Given the description of an element on the screen output the (x, y) to click on. 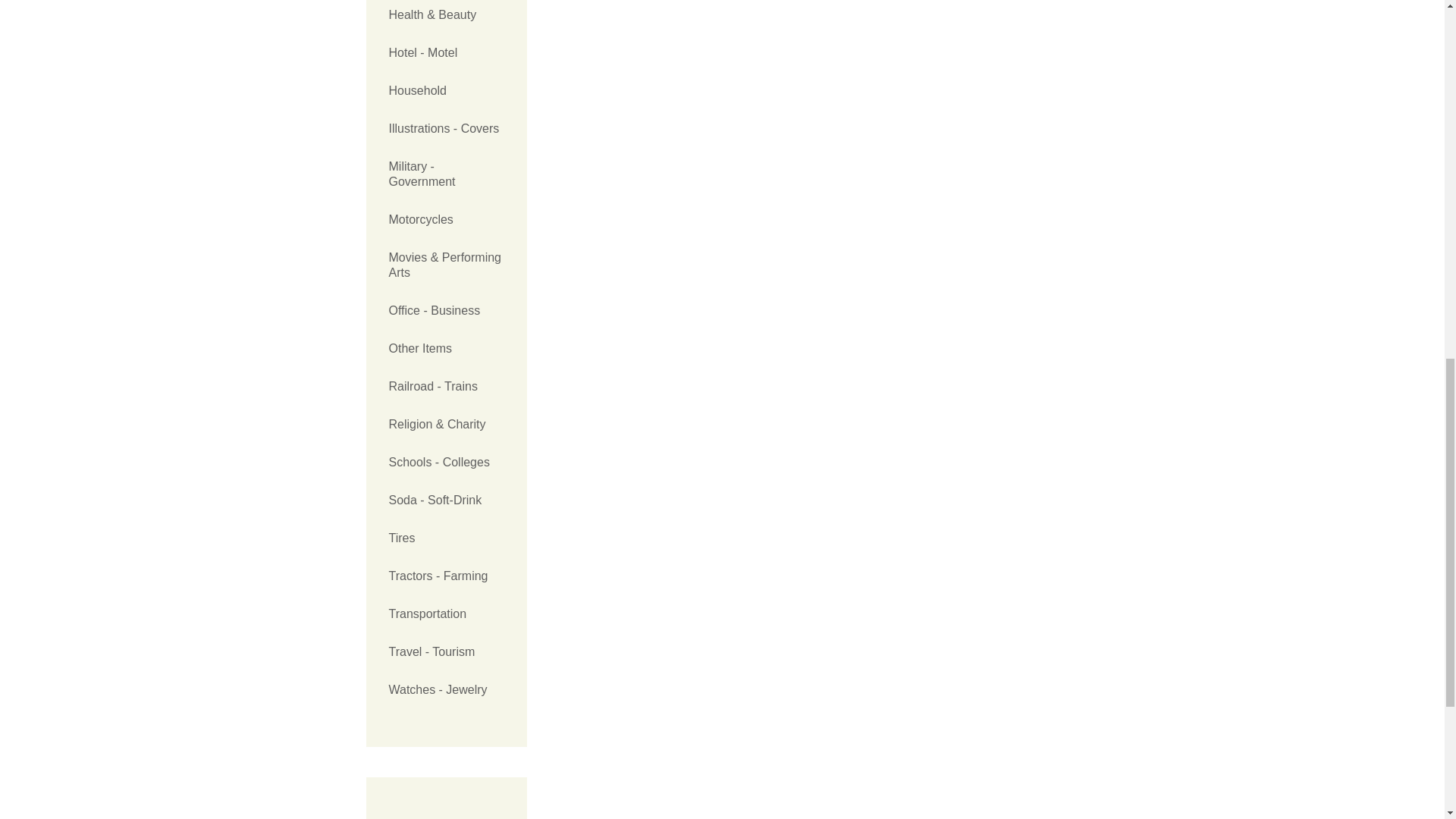
Military - Government (445, 174)
Motorcycles (445, 219)
Hotel - Motel (445, 53)
Illustrations - Covers (445, 128)
Household (445, 90)
Other Items (445, 348)
Office - Business (445, 310)
